Given the description of an element on the screen output the (x, y) to click on. 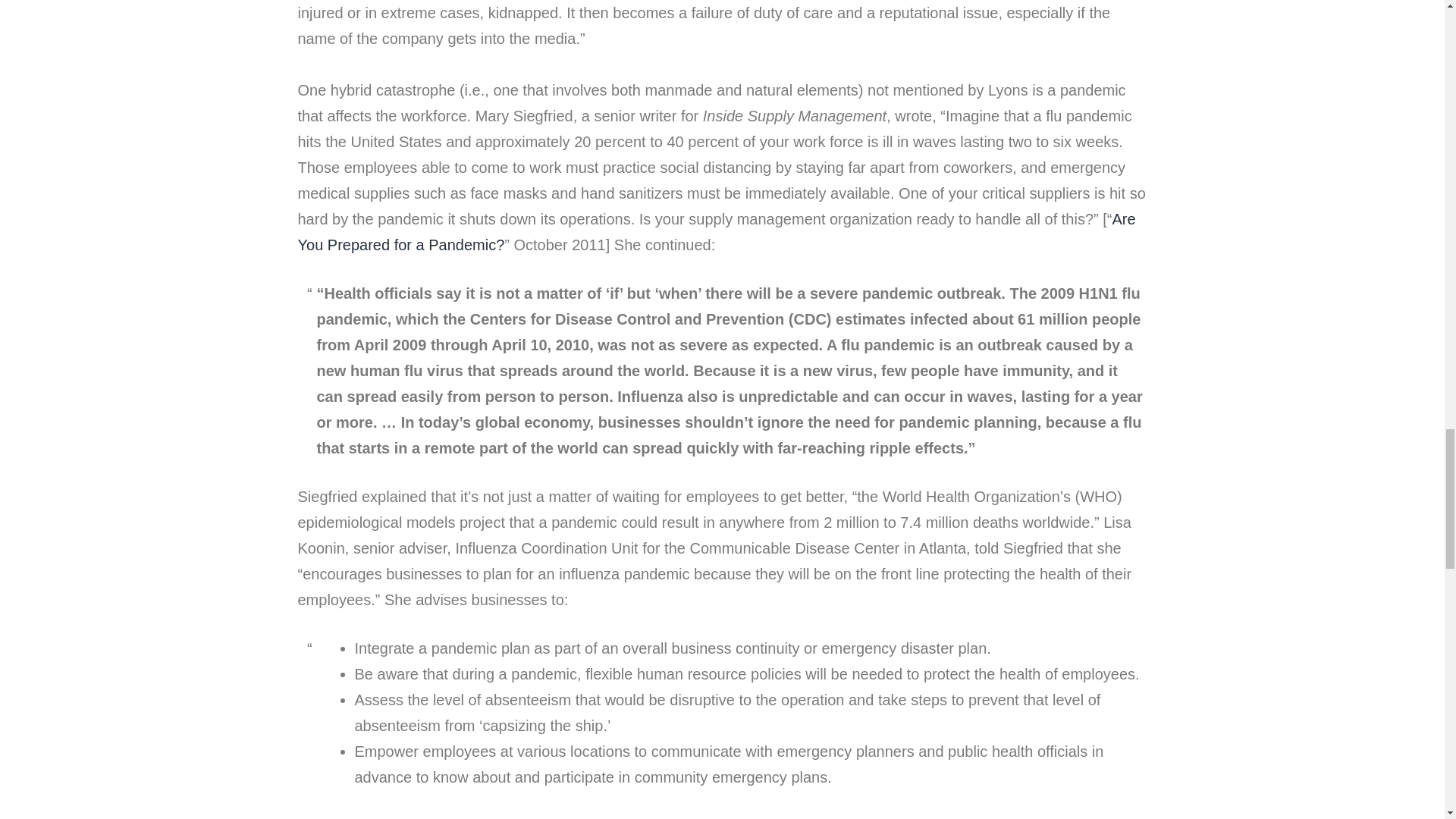
Are You Prepared for a Pandemic? (716, 231)
